Given the description of an element on the screen output the (x, y) to click on. 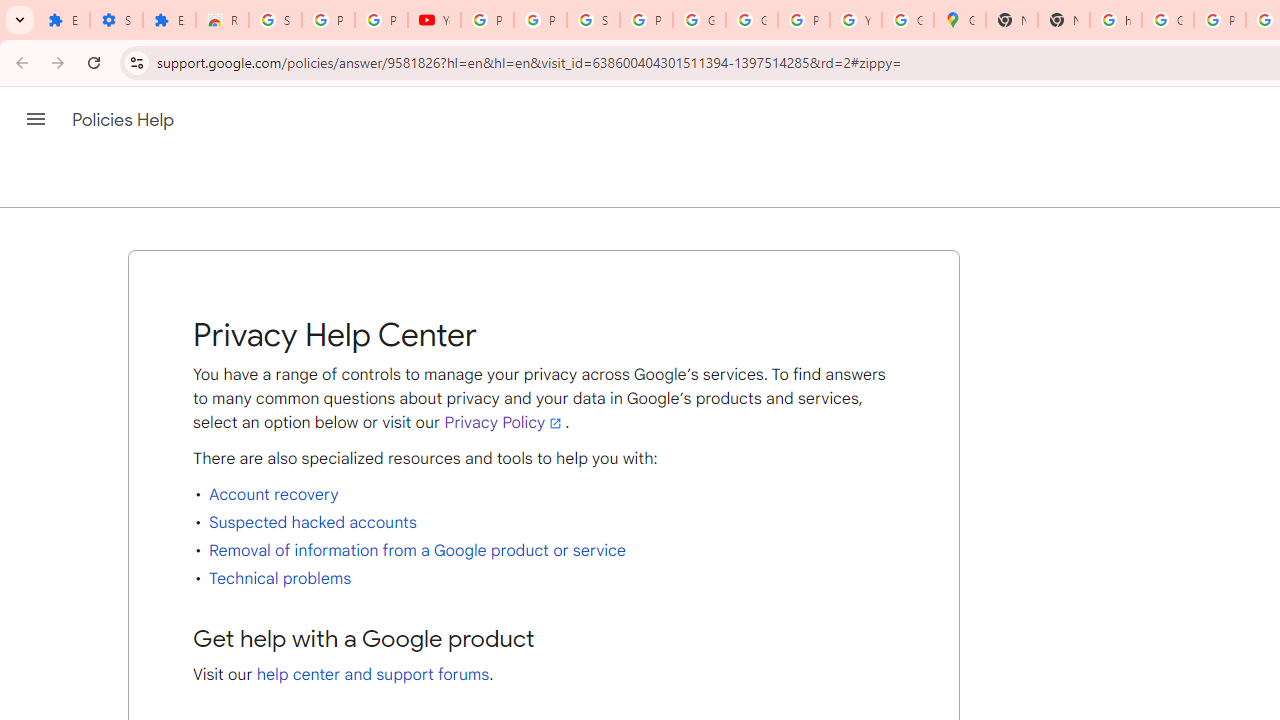
Main menu (35, 119)
Technical problems (280, 578)
New Tab (1064, 20)
YouTube (855, 20)
Reviews: Helix Fruit Jump Arcade Game (222, 20)
YouTube (434, 20)
